Given the description of an element on the screen output the (x, y) to click on. 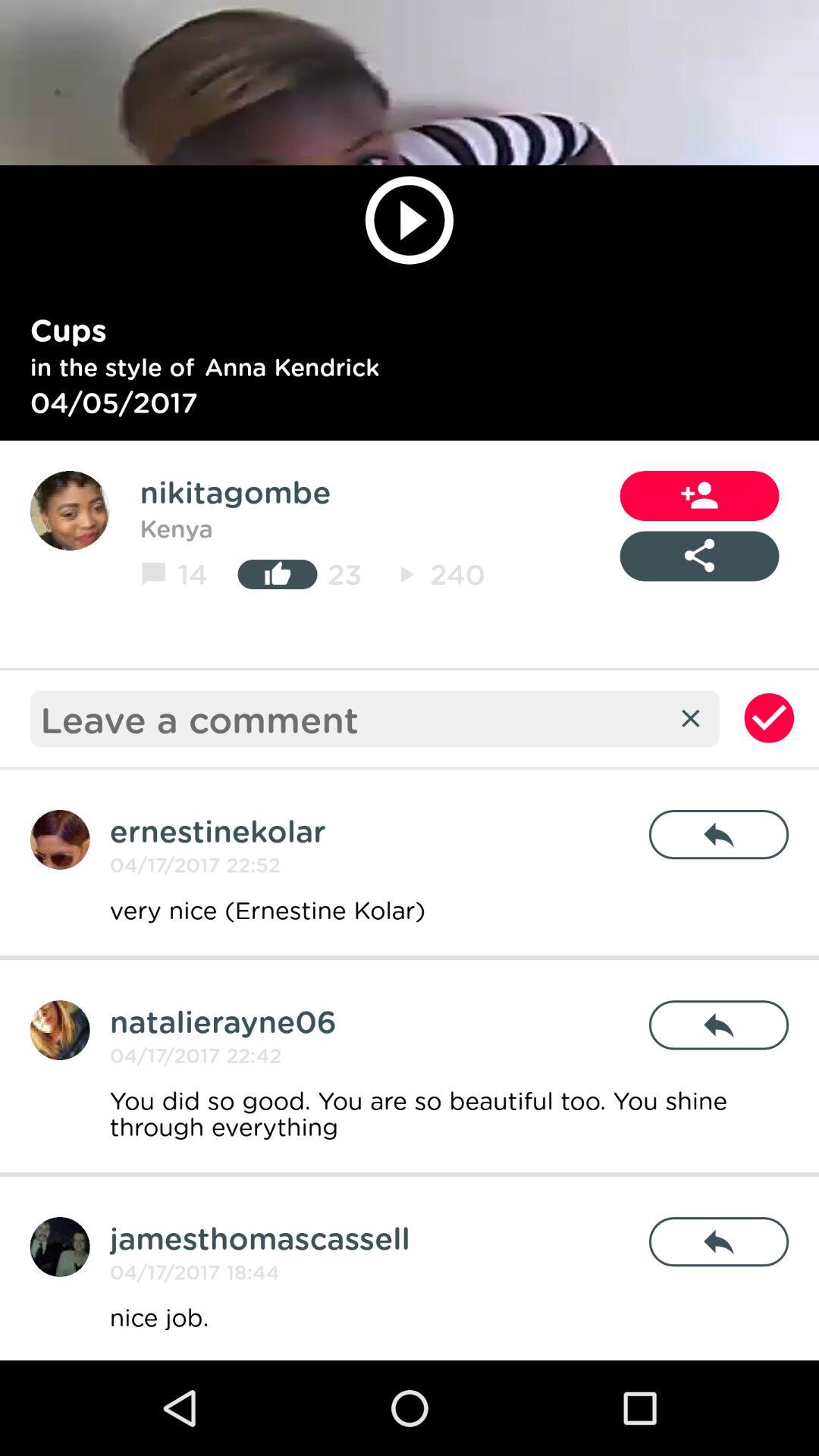
click the icon to the left of the 23 icon (277, 574)
